Given the description of an element on the screen output the (x, y) to click on. 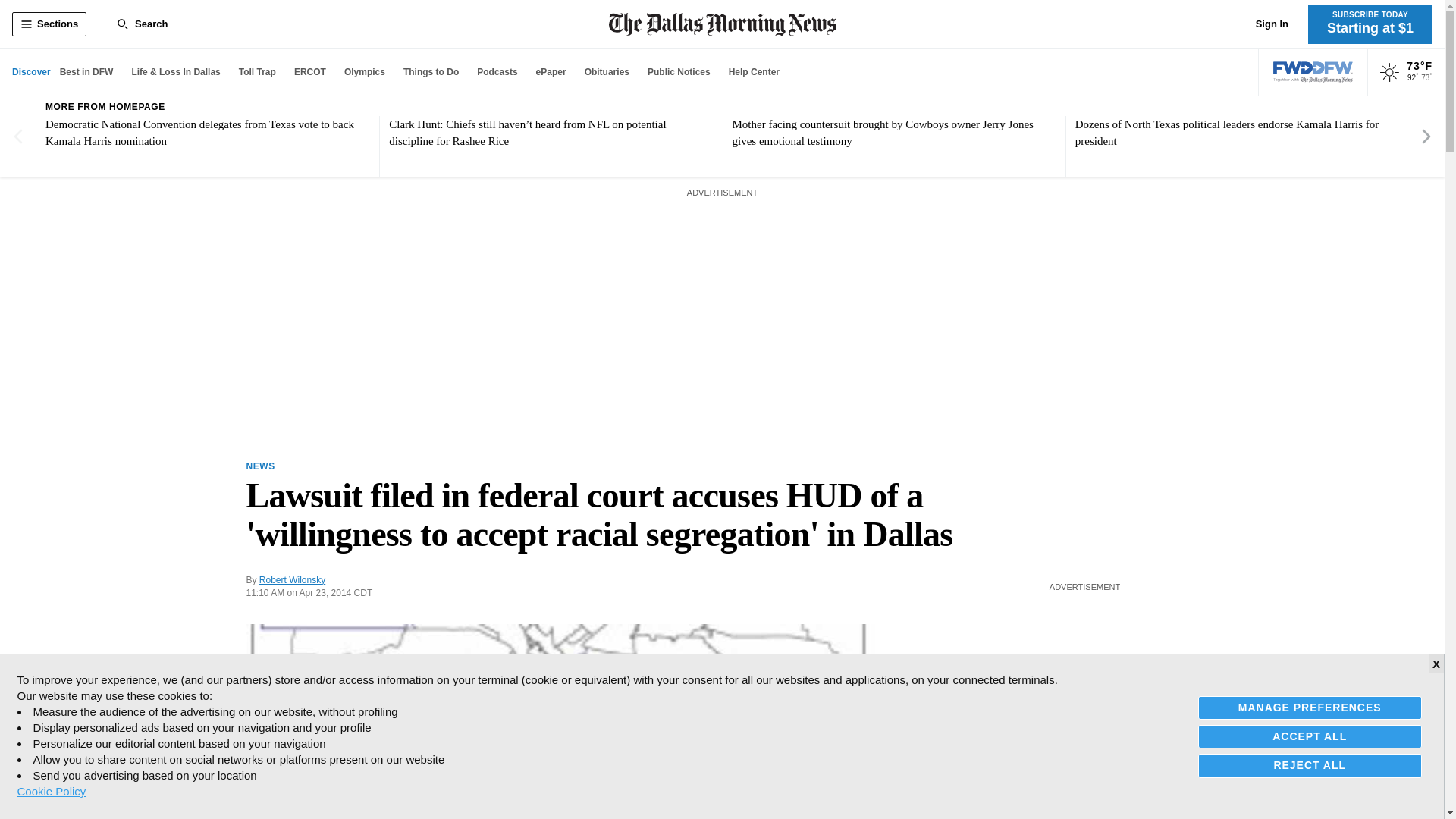
REJECT ALL (1310, 765)
Cookie Policy (50, 790)
Clear sky (1389, 72)
MANAGE PREFERENCES (1310, 707)
ACCEPT ALL (1310, 736)
FWD DFW, Together with The Dallas Morning News (1313, 72)
